Given the description of an element on the screen output the (x, y) to click on. 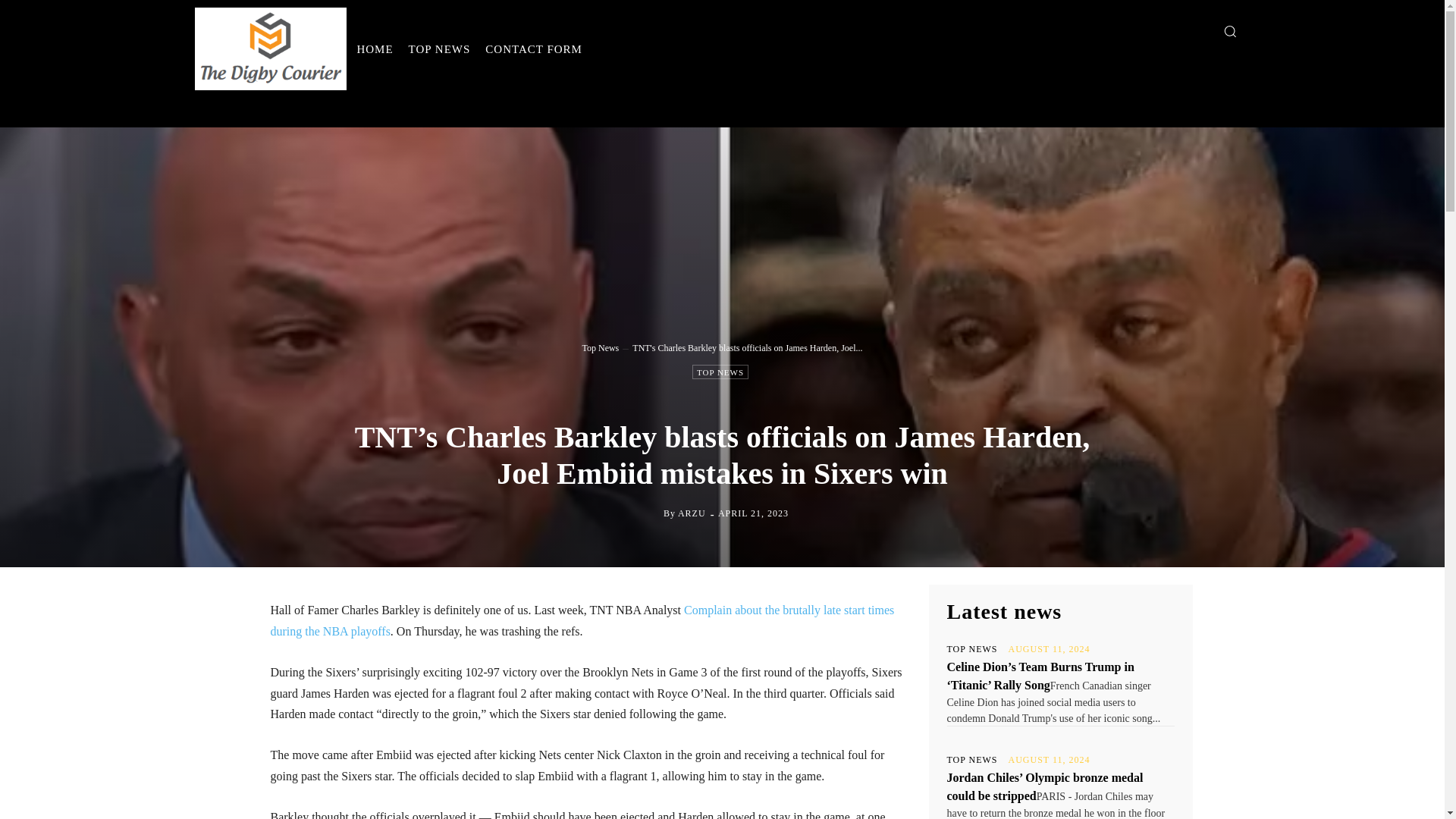
TOP NEWS (971, 759)
ARZU (692, 512)
CONTACT FORM (533, 49)
TOP NEWS (440, 49)
Arzu (651, 513)
HOME (374, 49)
TOP NEWS (720, 371)
TOP NEWS (971, 648)
View all posts in Top News (599, 347)
